Given the description of an element on the screen output the (x, y) to click on. 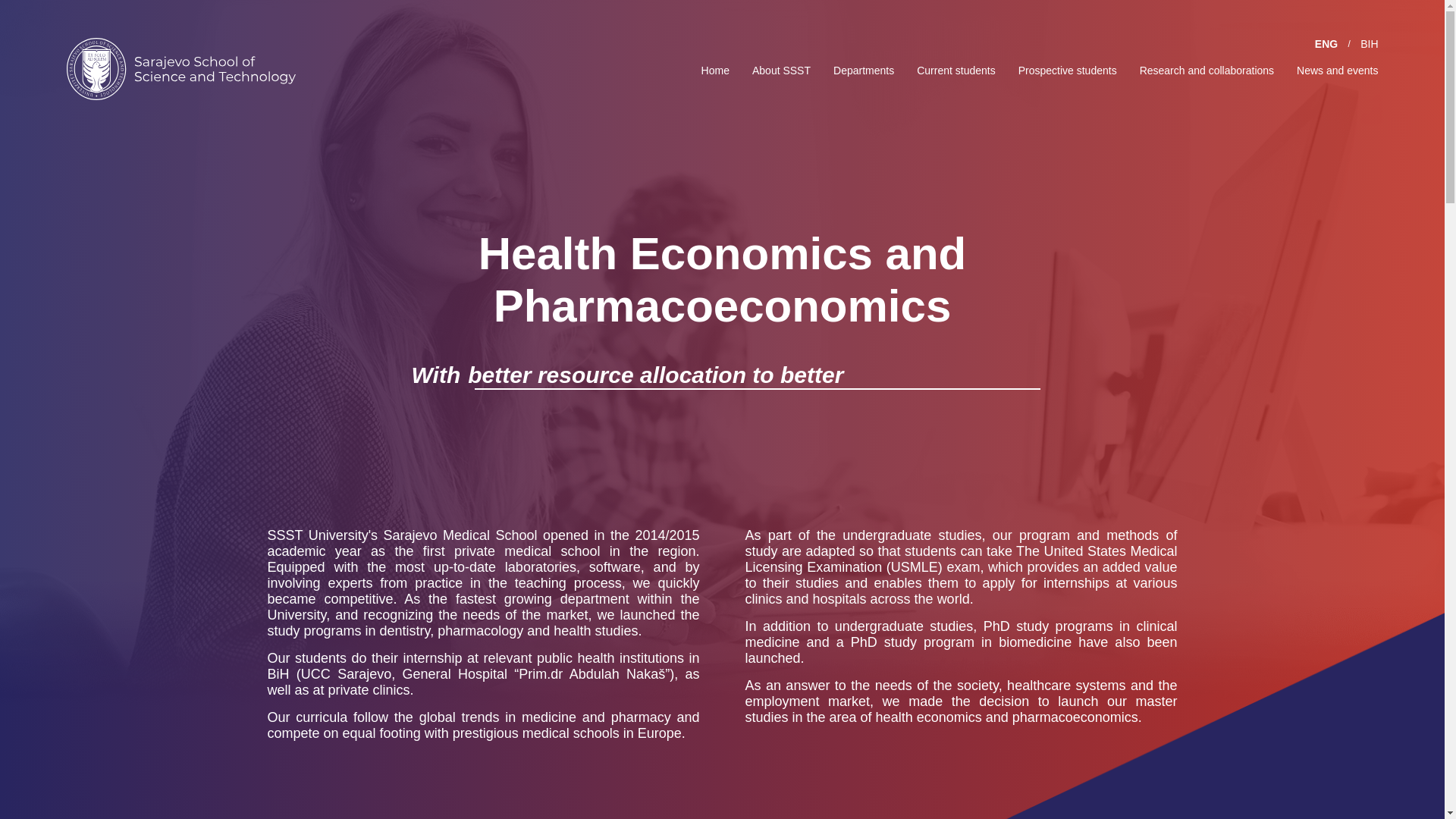
Departments (862, 70)
About SSST (781, 70)
BIH (1368, 43)
ENG (1326, 43)
